Given the description of an element on the screen output the (x, y) to click on. 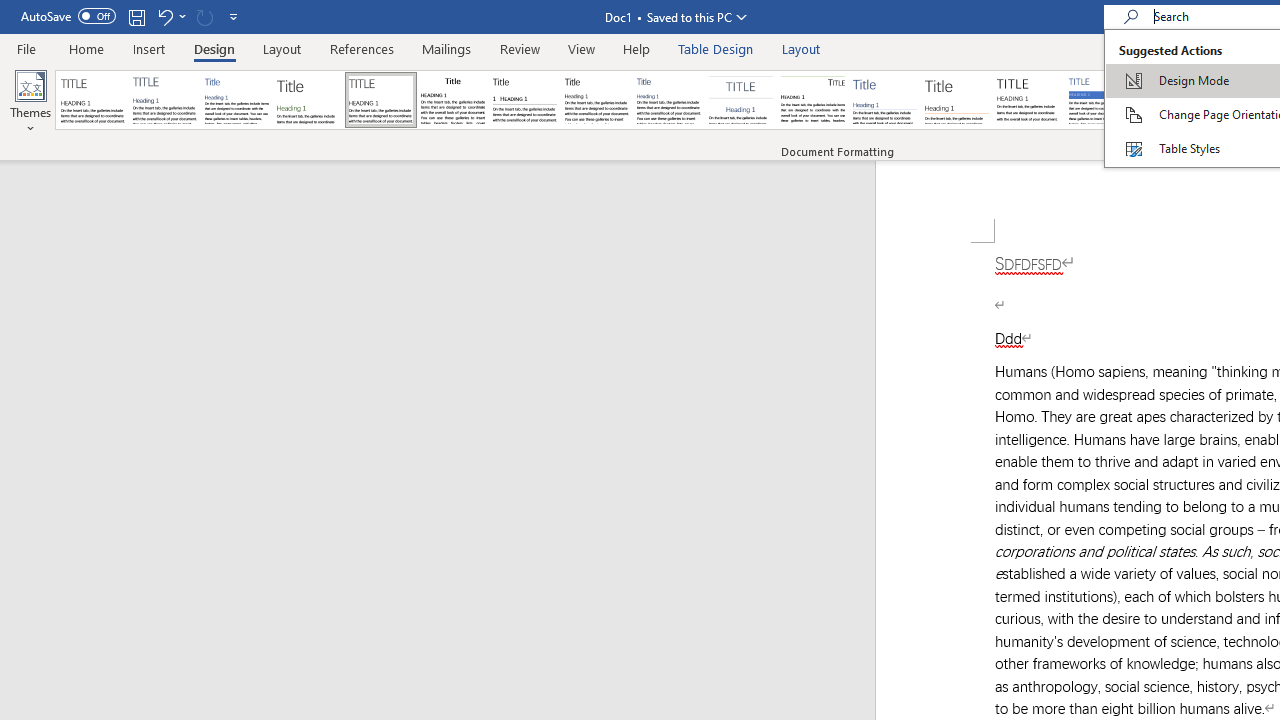
Word (1172, 100)
Black & White (Classic) (452, 100)
Black & White (Capitalized) (381, 100)
Basic (Elegant) (164, 100)
